Given the description of an element on the screen output the (x, y) to click on. 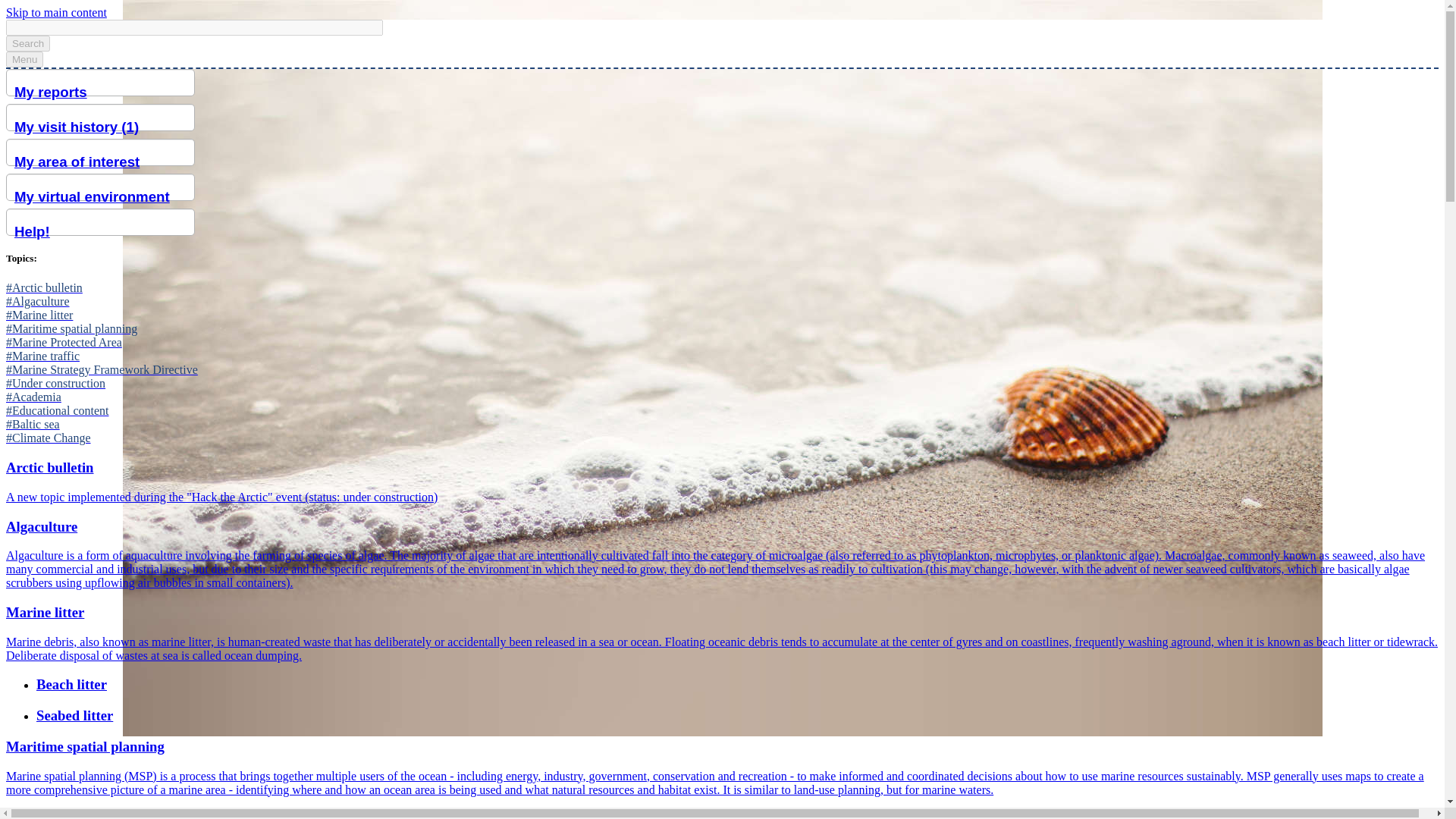
Seabed litter (737, 715)
Beach litter (737, 684)
Menu (24, 59)
My virtual environment (103, 197)
My reports (103, 92)
My area of interest (103, 161)
Help! (103, 231)
Skip to main content (55, 11)
Search (27, 43)
